Given the description of an element on the screen output the (x, y) to click on. 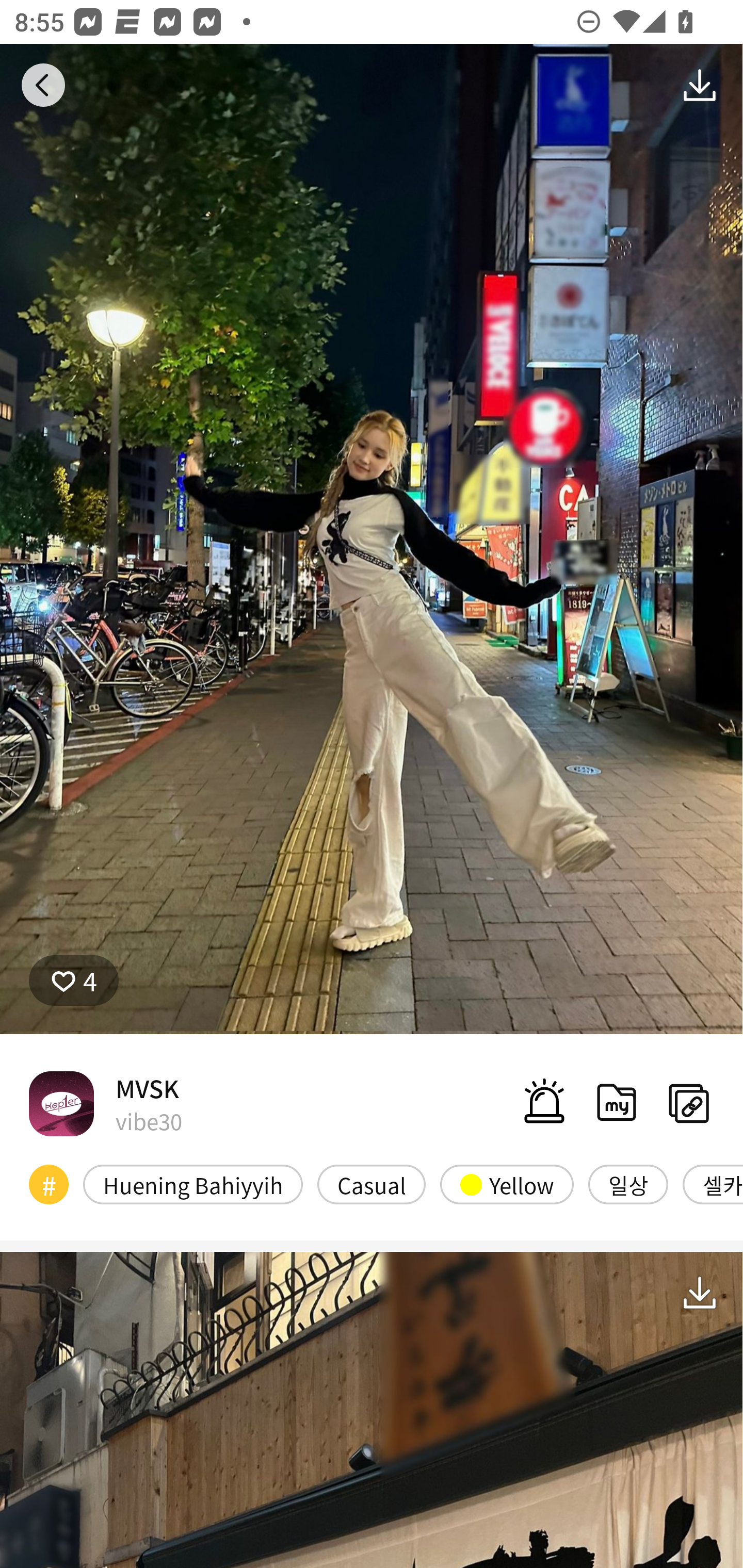
4 (73, 980)
MVSK vibe30 (105, 1102)
Huening Bahiyyih (193, 1184)
Casual (371, 1184)
Yellow (506, 1184)
일상 (627, 1184)
셀카 (712, 1184)
